Given the description of an element on the screen output the (x, y) to click on. 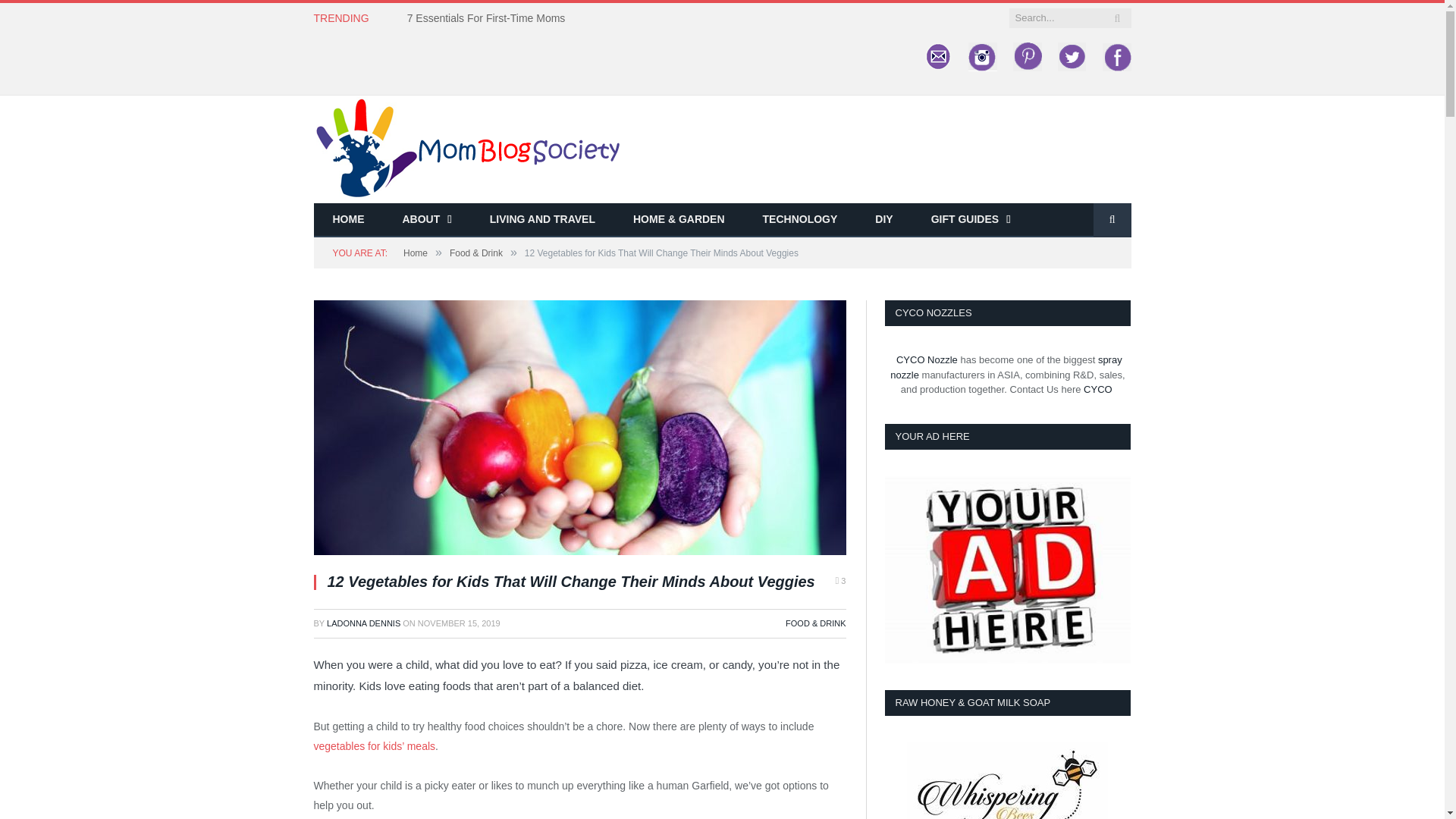
GIFT GUIDES (970, 220)
ABOUT (427, 220)
TECHNOLOGY (800, 220)
HOME (349, 220)
LIVING AND TRAVEL (542, 220)
Mom Blog Society (467, 146)
7 Essentials For First-Time Moms (490, 18)
7 Essentials For First-Time Moms (490, 18)
DIY (883, 220)
